Given the description of an element on the screen output the (x, y) to click on. 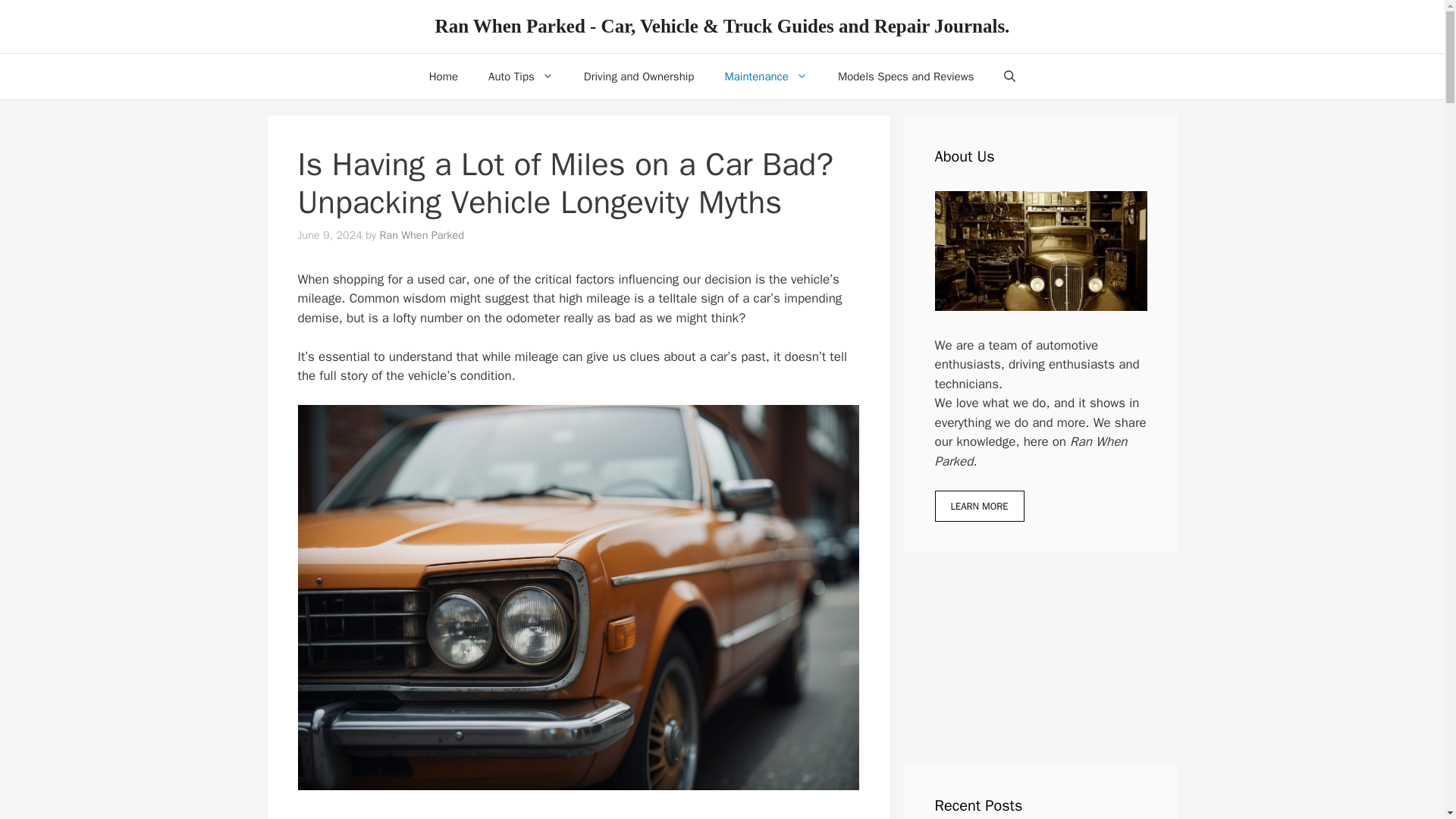
Home (443, 76)
Models Specs and Reviews (905, 76)
Auto Tips (521, 76)
Driving and Ownership (639, 76)
View all posts by Ran When Parked (421, 234)
Maintenance (765, 76)
Ran When Parked (421, 234)
